Given the description of an element on the screen output the (x, y) to click on. 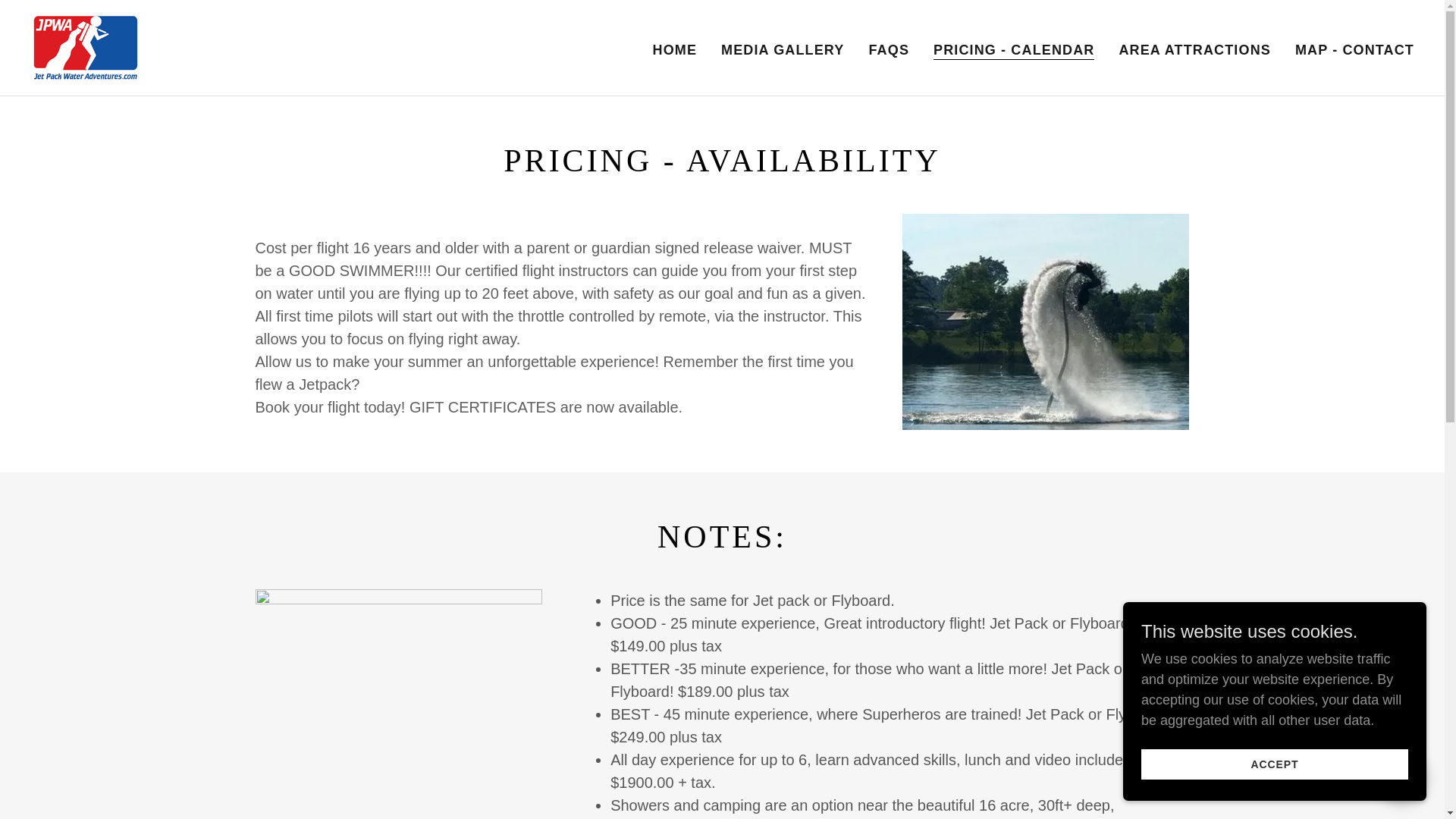
MAP - CONTACT (1354, 49)
MEDIA GALLERY (782, 49)
FAQS (888, 49)
AREA ATTRACTIONS (1194, 49)
PRICING - CALENDAR (1013, 49)
Jet Pack Water Adventures (85, 46)
HOME (674, 49)
ACCEPT (1274, 764)
